Given the description of an element on the screen output the (x, y) to click on. 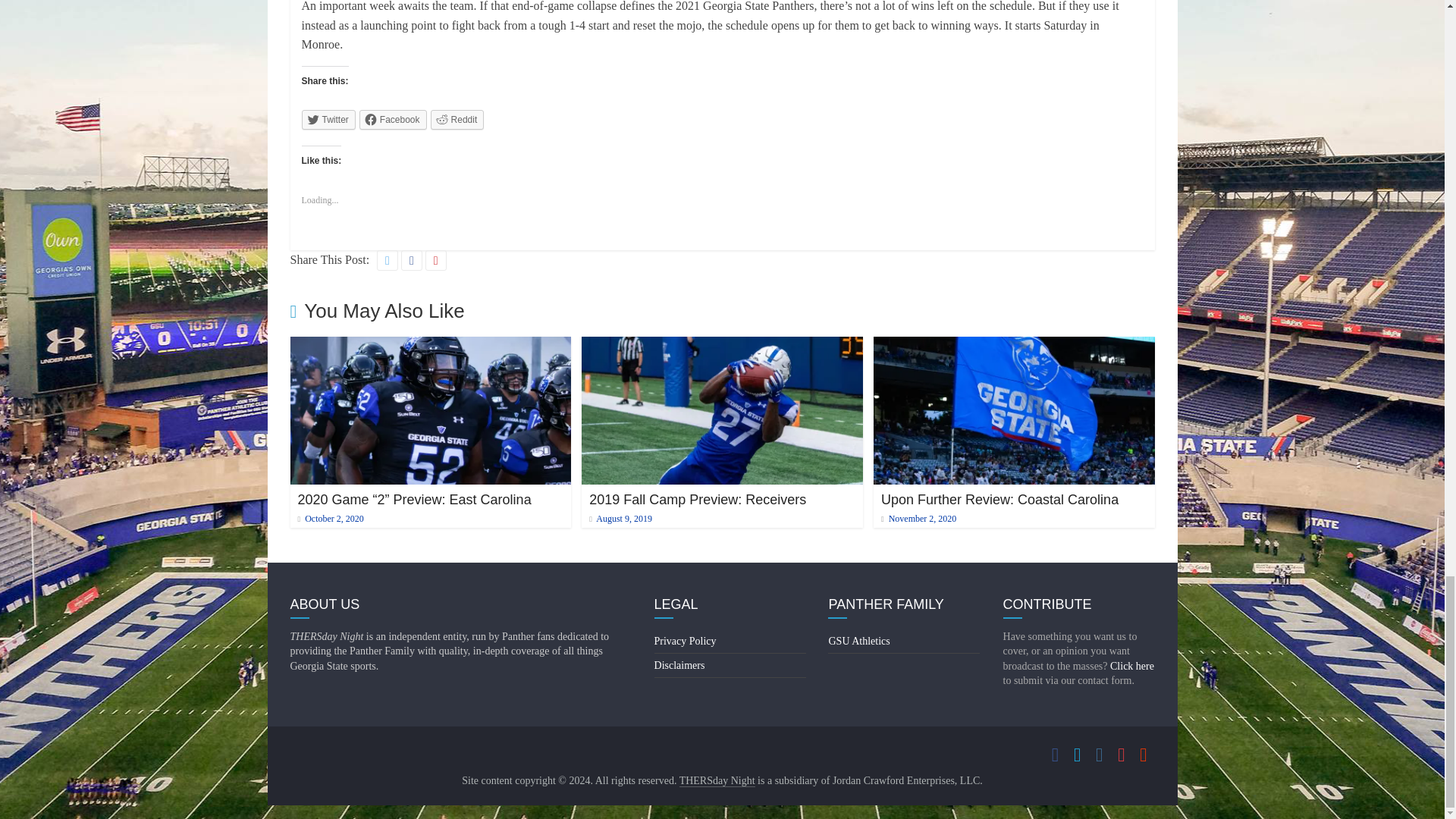
2019 Fall Camp Preview: Receivers (697, 499)
Facebook (392, 119)
Click to share on Twitter (328, 119)
Reddit (457, 119)
Twitter (328, 119)
October 2, 2020 (329, 518)
Click to share on Reddit (457, 119)
3:23 pm (329, 518)
Click to share on Facebook (392, 119)
